Given the description of an element on the screen output the (x, y) to click on. 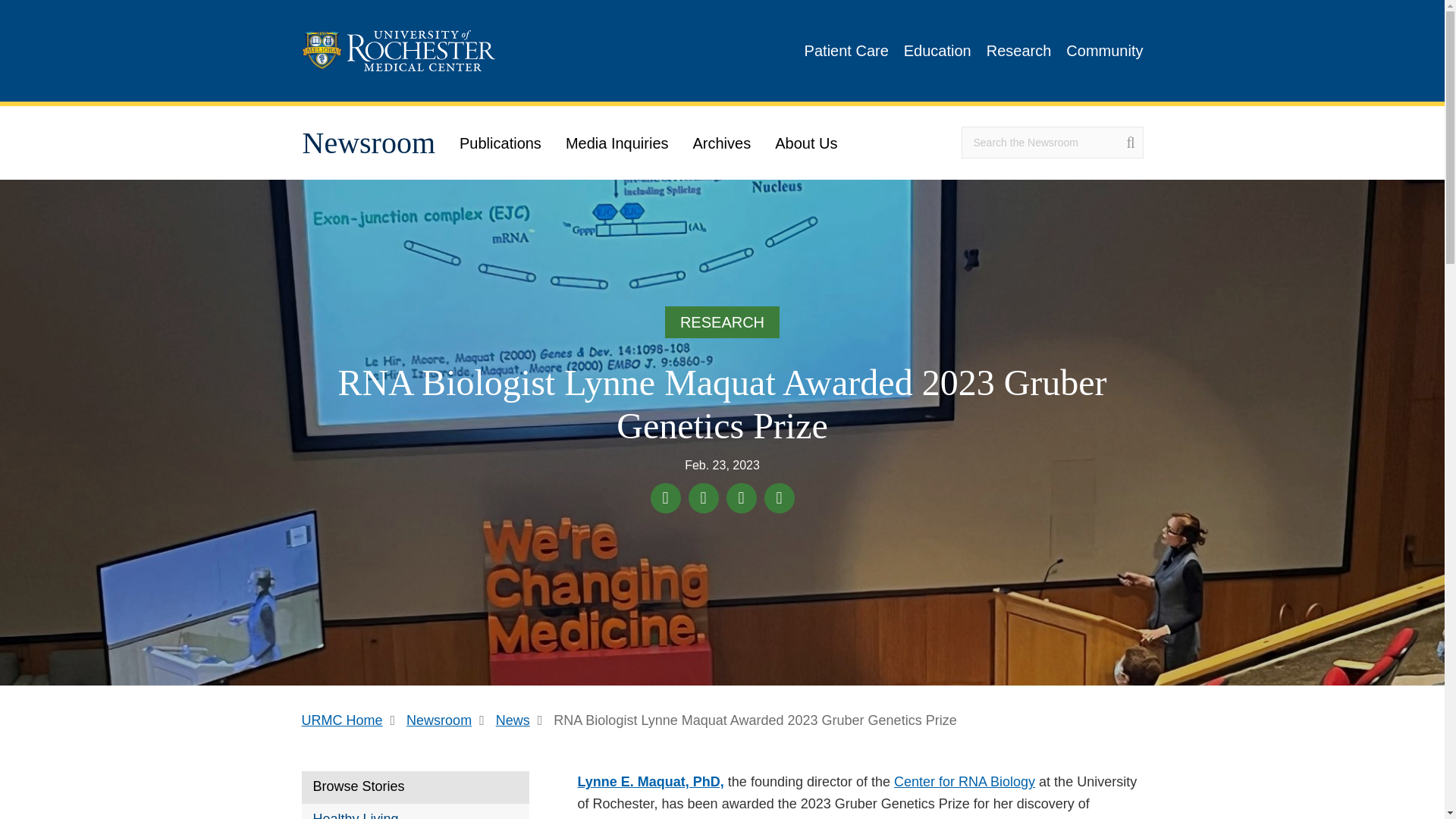
News (523, 721)
Archives (721, 142)
Media Inquiries (617, 142)
Facebook (665, 498)
Center for RNA Biology (964, 781)
About Us (805, 142)
Email (779, 498)
Community (1104, 50)
